Given the description of an element on the screen output the (x, y) to click on. 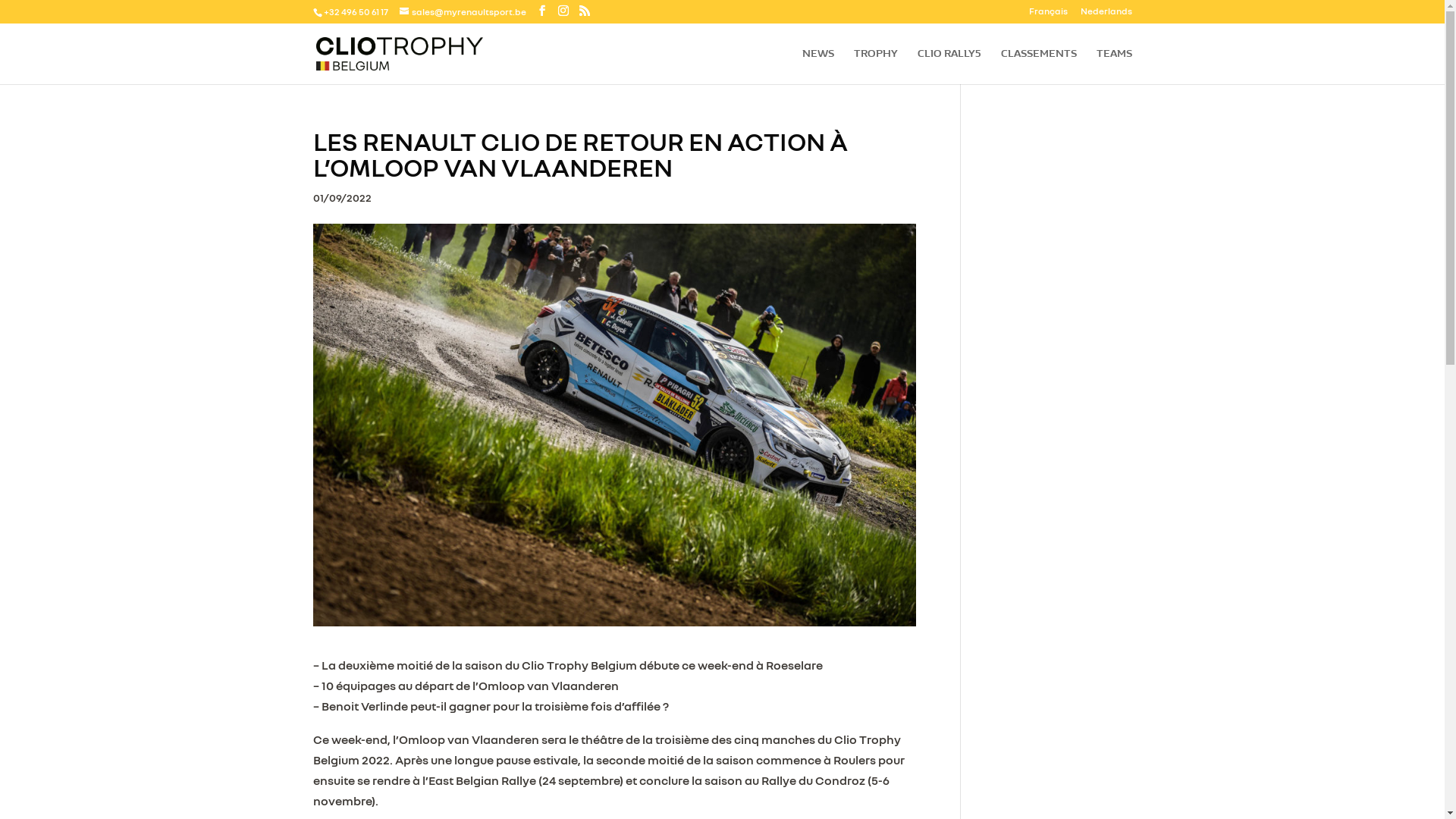
CLASSEMENTS Element type: text (1038, 66)
NEWS Element type: text (818, 66)
TROPHY Element type: text (875, 66)
CLIO RALLY5 Element type: text (949, 66)
TEAMS Element type: text (1114, 66)
Nederlands Element type: text (1105, 14)
sales@myrenaultsport.be Element type: text (461, 11)
